Given the description of an element on the screen output the (x, y) to click on. 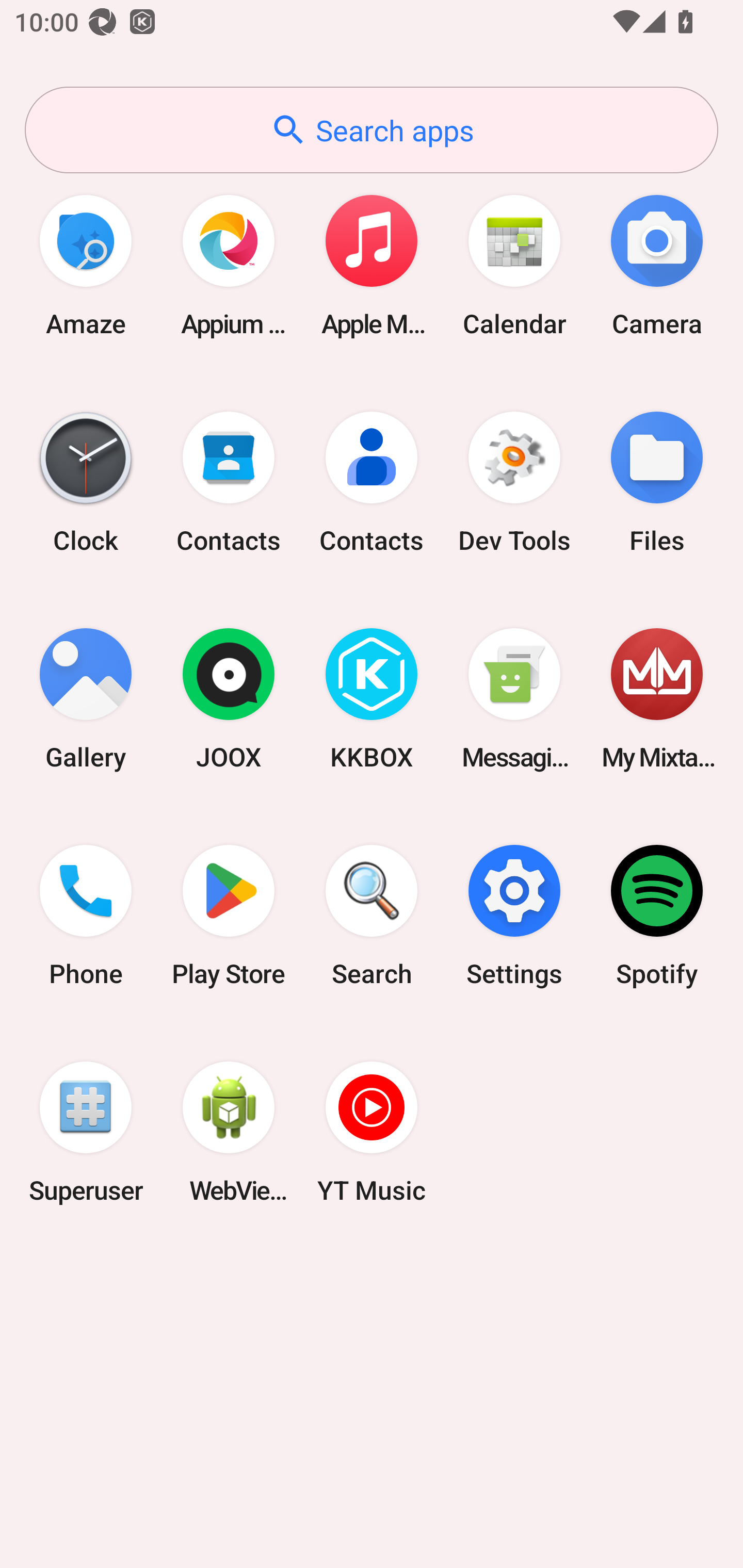
  Search apps (371, 130)
Amaze (85, 264)
Appium Settings (228, 264)
Apple Music (371, 264)
Calendar (514, 264)
Camera (656, 264)
Clock (85, 482)
Contacts (228, 482)
Contacts (371, 482)
Dev Tools (514, 482)
Files (656, 482)
Gallery (85, 699)
JOOX (228, 699)
KKBOX (371, 699)
Messaging (514, 699)
My Mixtapez (656, 699)
Phone (85, 915)
Play Store (228, 915)
Search (371, 915)
Settings (514, 915)
Spotify (656, 915)
Superuser (85, 1131)
WebView Browser Tester (228, 1131)
YT Music (371, 1131)
